Given the description of an element on the screen output the (x, y) to click on. 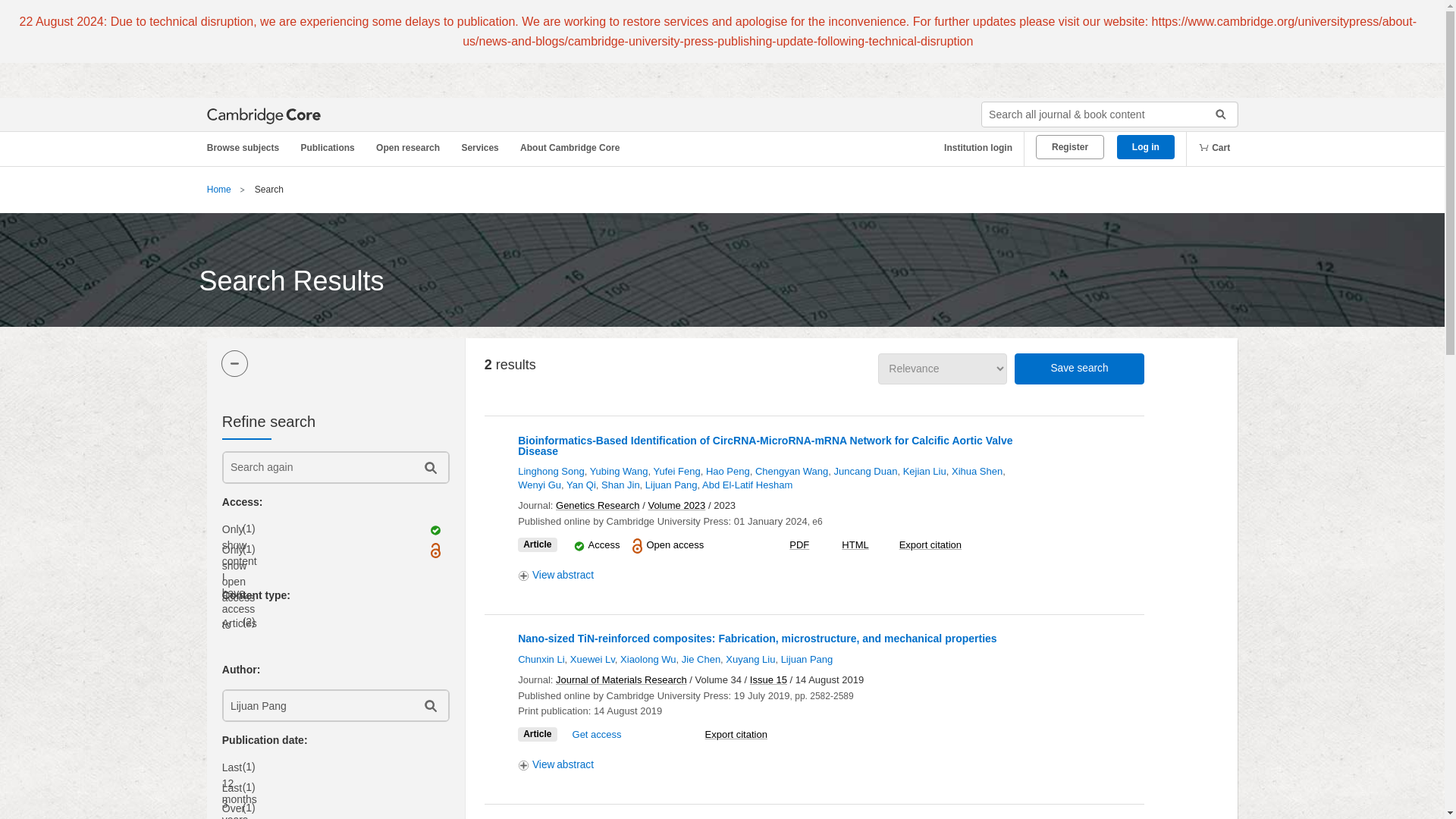
Publications (330, 147)
Submit refine search (429, 467)
Submit author search (429, 705)
Institution login (972, 147)
You have access to this product (579, 545)
Submit search (1214, 114)
Lijuan Pang (316, 705)
Browse subjects (250, 147)
Register (1069, 146)
Submit search (1214, 114)
